Given the description of an element on the screen output the (x, y) to click on. 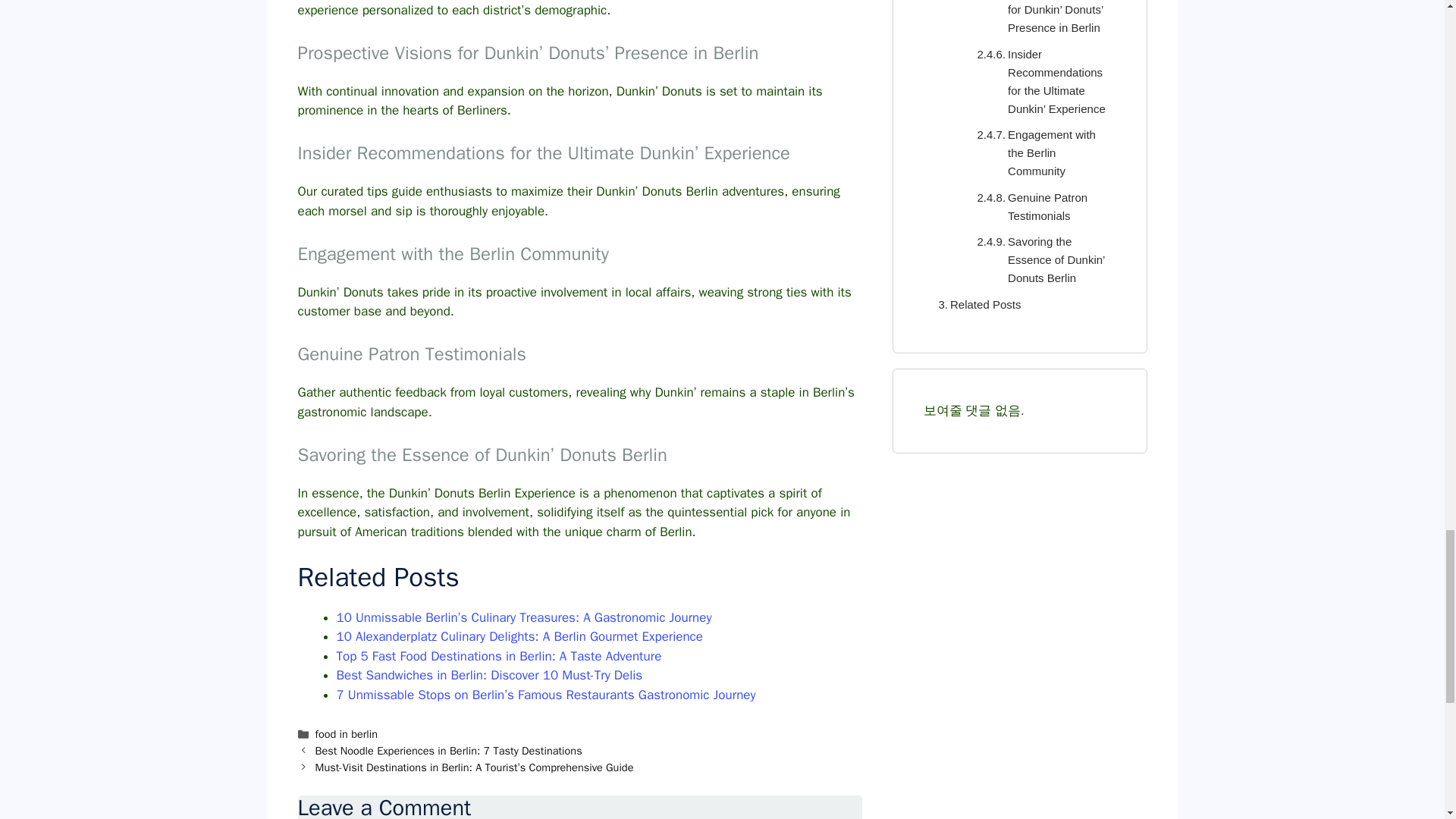
Top 5 Fast Food Destinations in Berlin: A Taste Adventure (499, 656)
food in berlin (346, 734)
Best Noodle Experiences in Berlin: 7 Tasty Destinations (448, 750)
Best Sandwiches in Berlin: Discover 10 Must-Try Delis (489, 675)
